Given the description of an element on the screen output the (x, y) to click on. 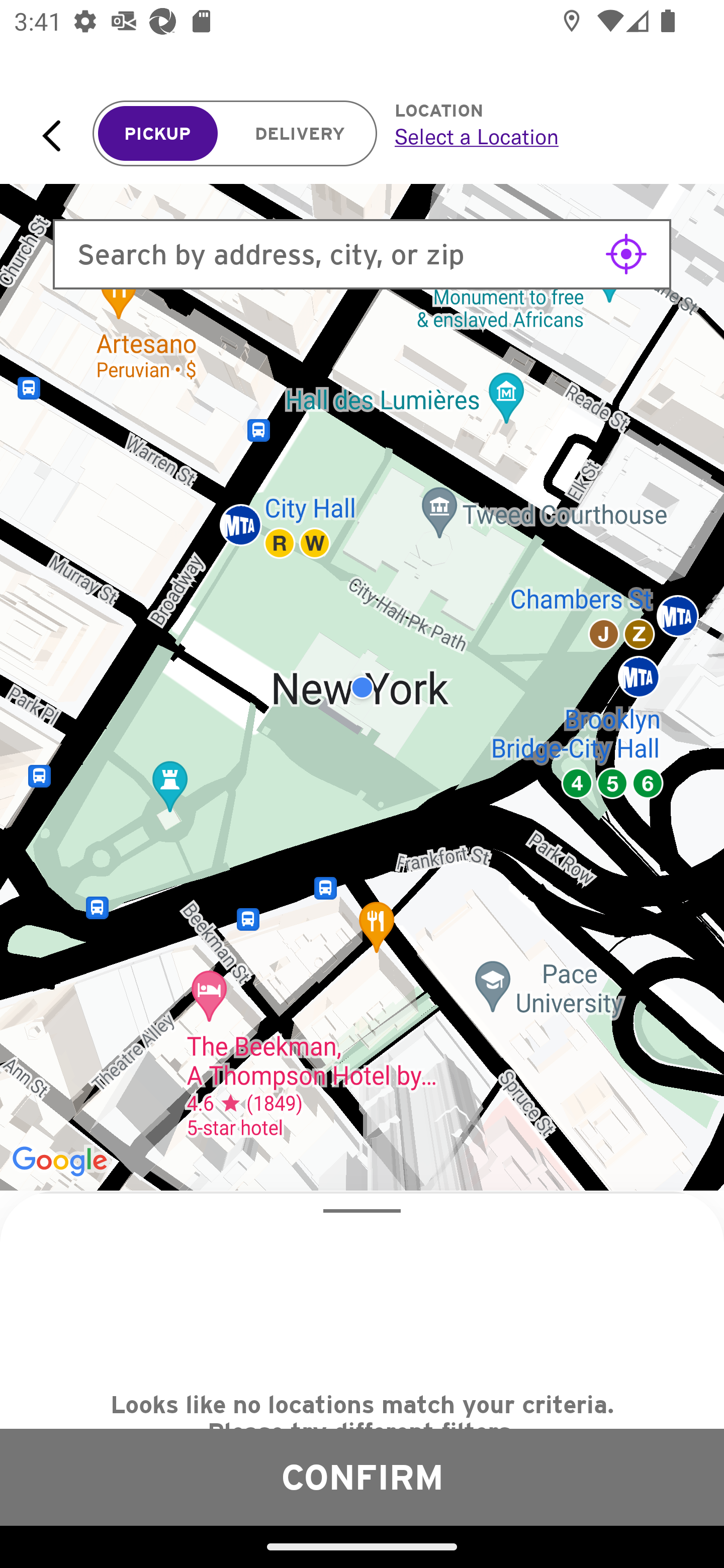
PICKUP (157, 133)
DELIVERY (299, 133)
Select a Location (536, 136)
Search by address, city, or zip (361, 254)
CONFIRM (362, 1476)
